Given the description of an element on the screen output the (x, y) to click on. 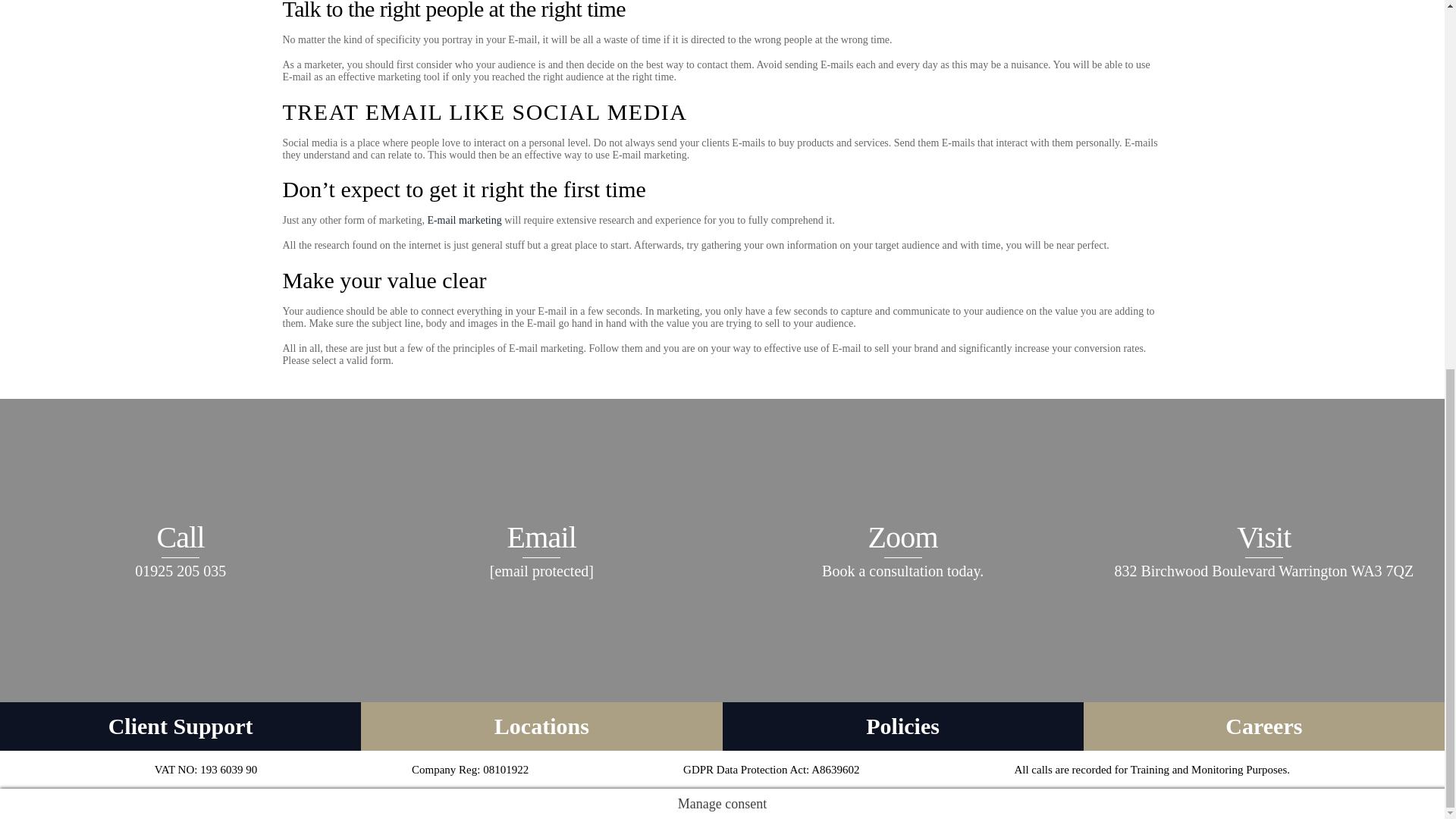
Zoom (902, 549)
Email (541, 549)
Call (180, 549)
